Given the description of an element on the screen output the (x, y) to click on. 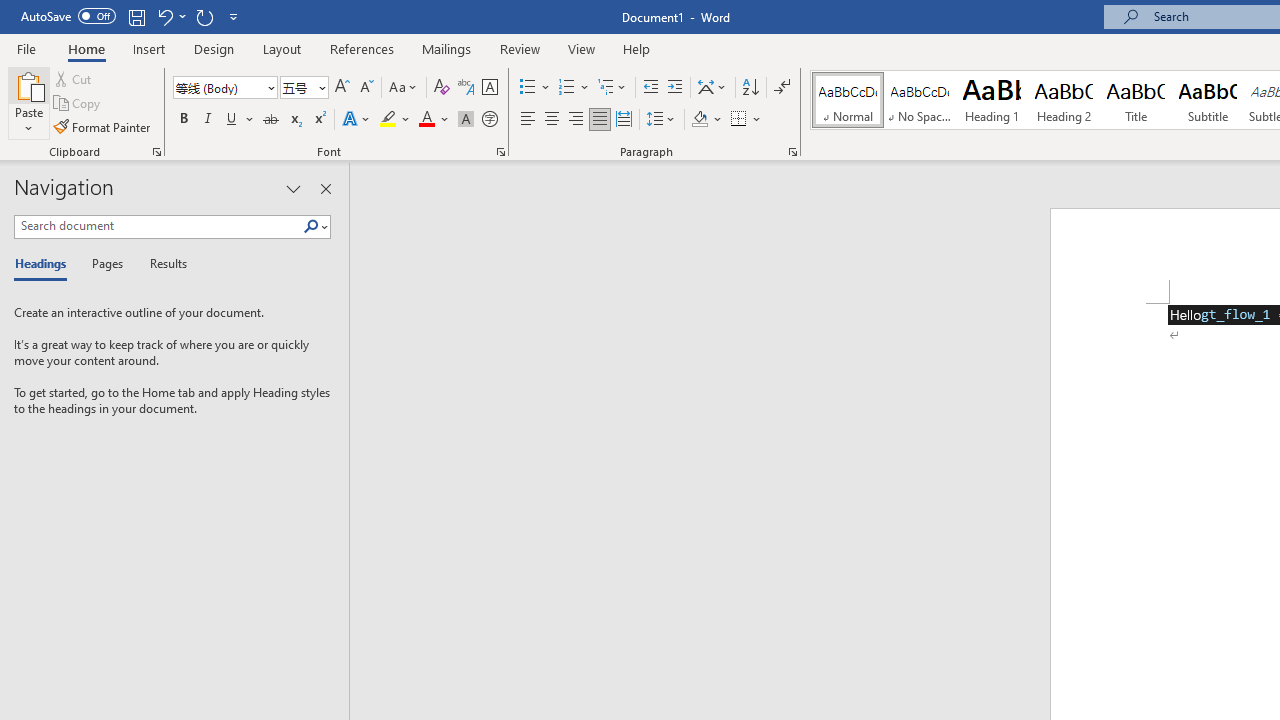
Undo Paste (164, 15)
